Given the description of an element on the screen output the (x, y) to click on. 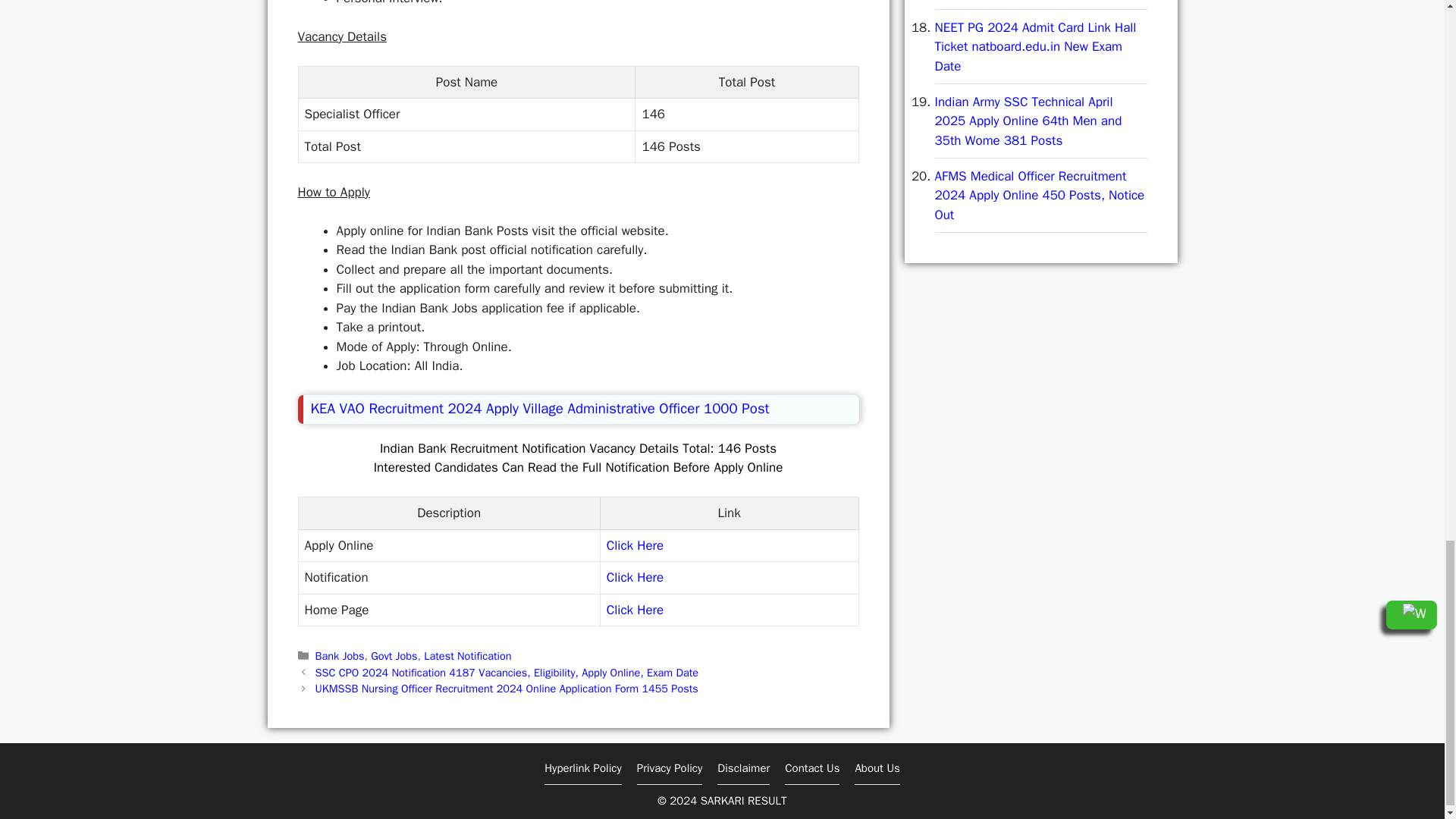
Click Here (635, 609)
Click Here (635, 545)
Govt Jobs (393, 655)
Click Here (635, 577)
Latest Notification (467, 655)
Bank Jobs (340, 655)
